Given the description of an element on the screen output the (x, y) to click on. 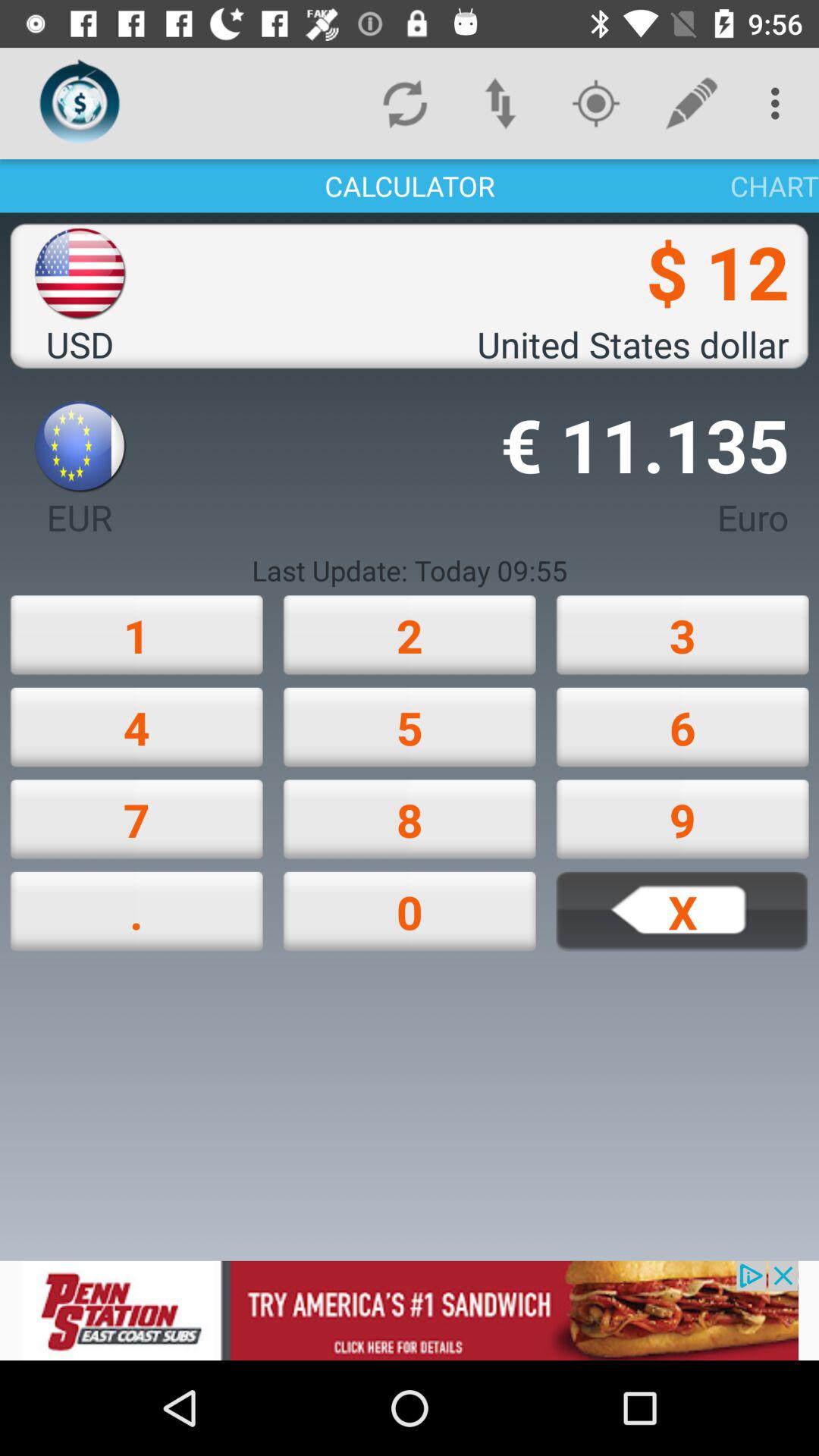
know about the advertisement (409, 1310)
